Given the description of an element on the screen output the (x, y) to click on. 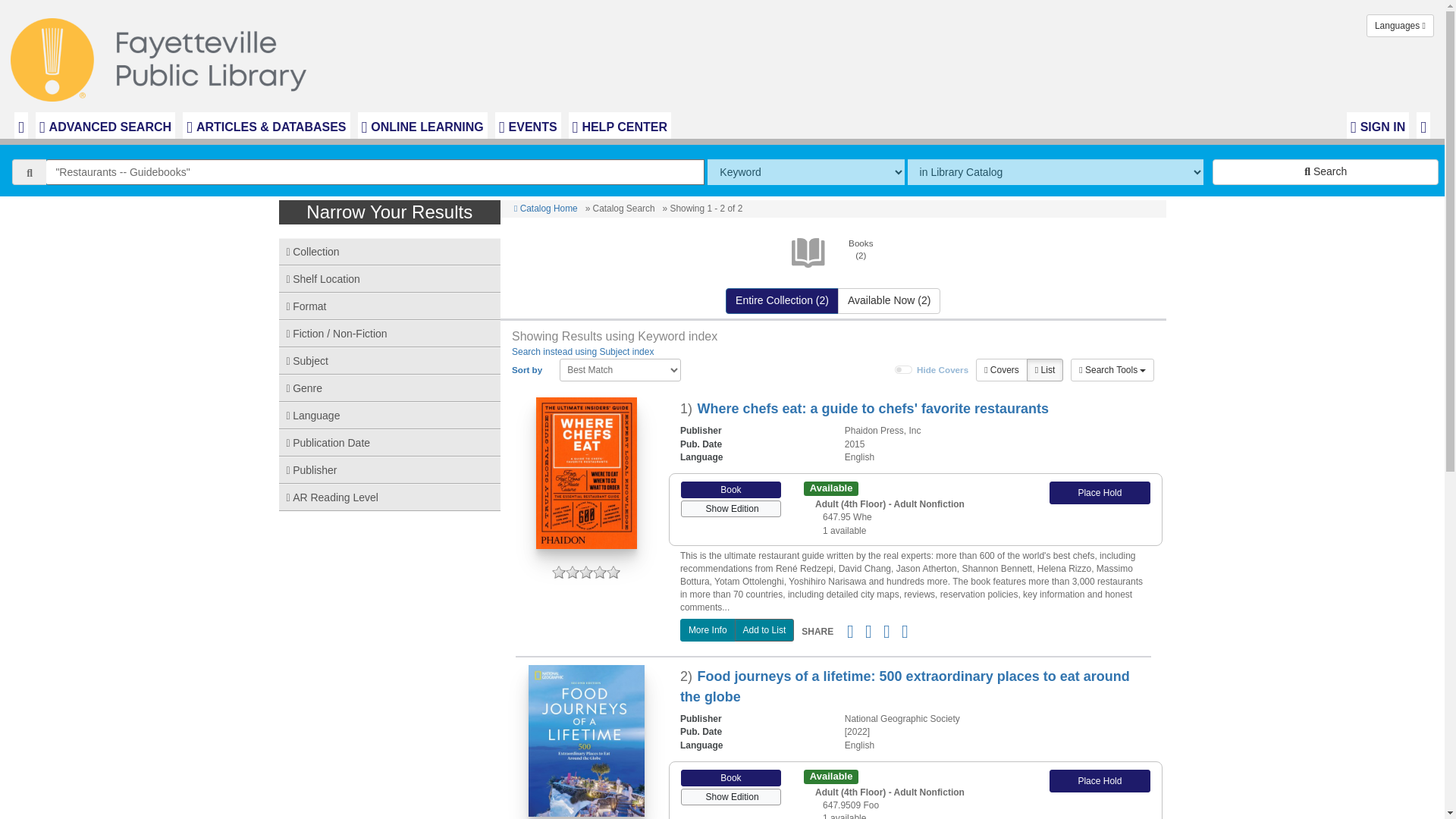
 Search (1325, 171)
SIGN IN (1377, 125)
EVENTS (527, 125)
Library Home Page (162, 55)
The method of searching. (805, 171)
"Restaurants -- Guidebooks" (375, 171)
Login (1377, 125)
on (903, 369)
ADVANCED SEARCH (104, 125)
